Given the description of an element on the screen output the (x, y) to click on. 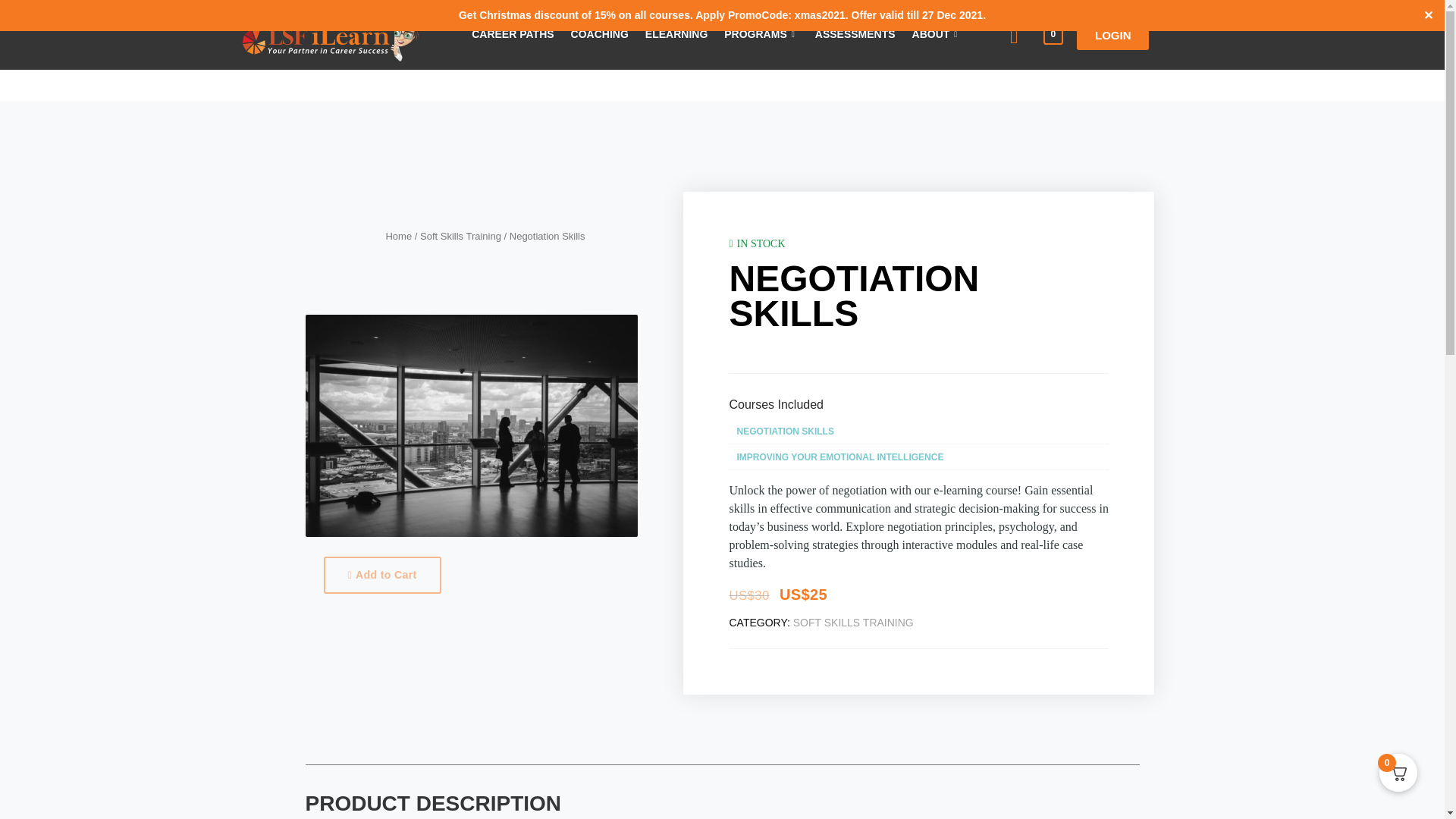
0 (1052, 33)
COACHING (599, 27)
PROGRAMS (761, 29)
LOGIN (1113, 34)
CAREER PATHS (512, 26)
ABOUT (936, 32)
Negotiation Skills (470, 425)
ELEARNING (676, 29)
ASSESSMENTS (855, 31)
View your shopping cart (1052, 33)
